Given the description of an element on the screen output the (x, y) to click on. 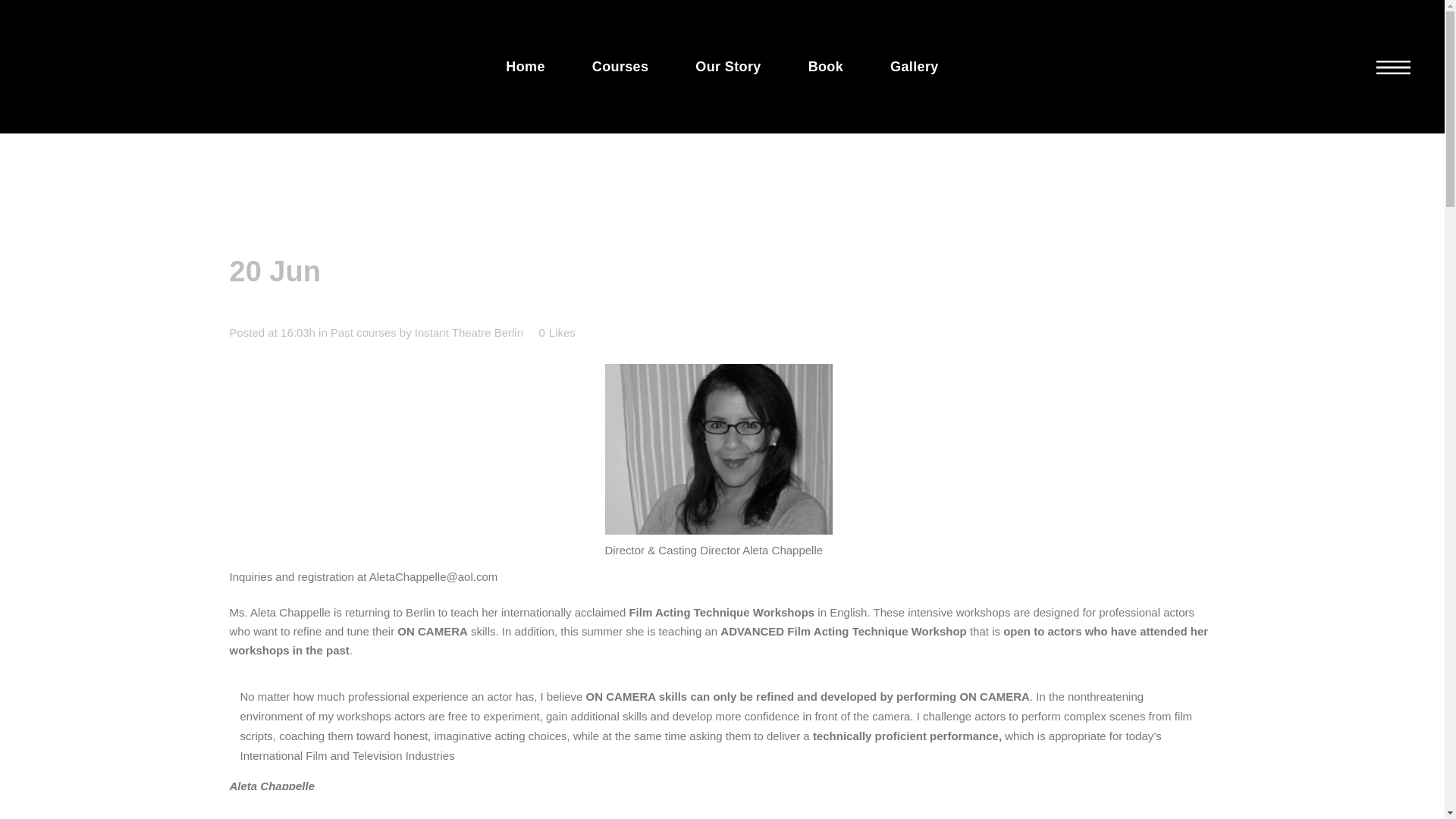
0 Likes (556, 332)
Instant Theatre Berlin (468, 332)
Like this (556, 332)
Past courses (363, 332)
